Given the description of an element on the screen output the (x, y) to click on. 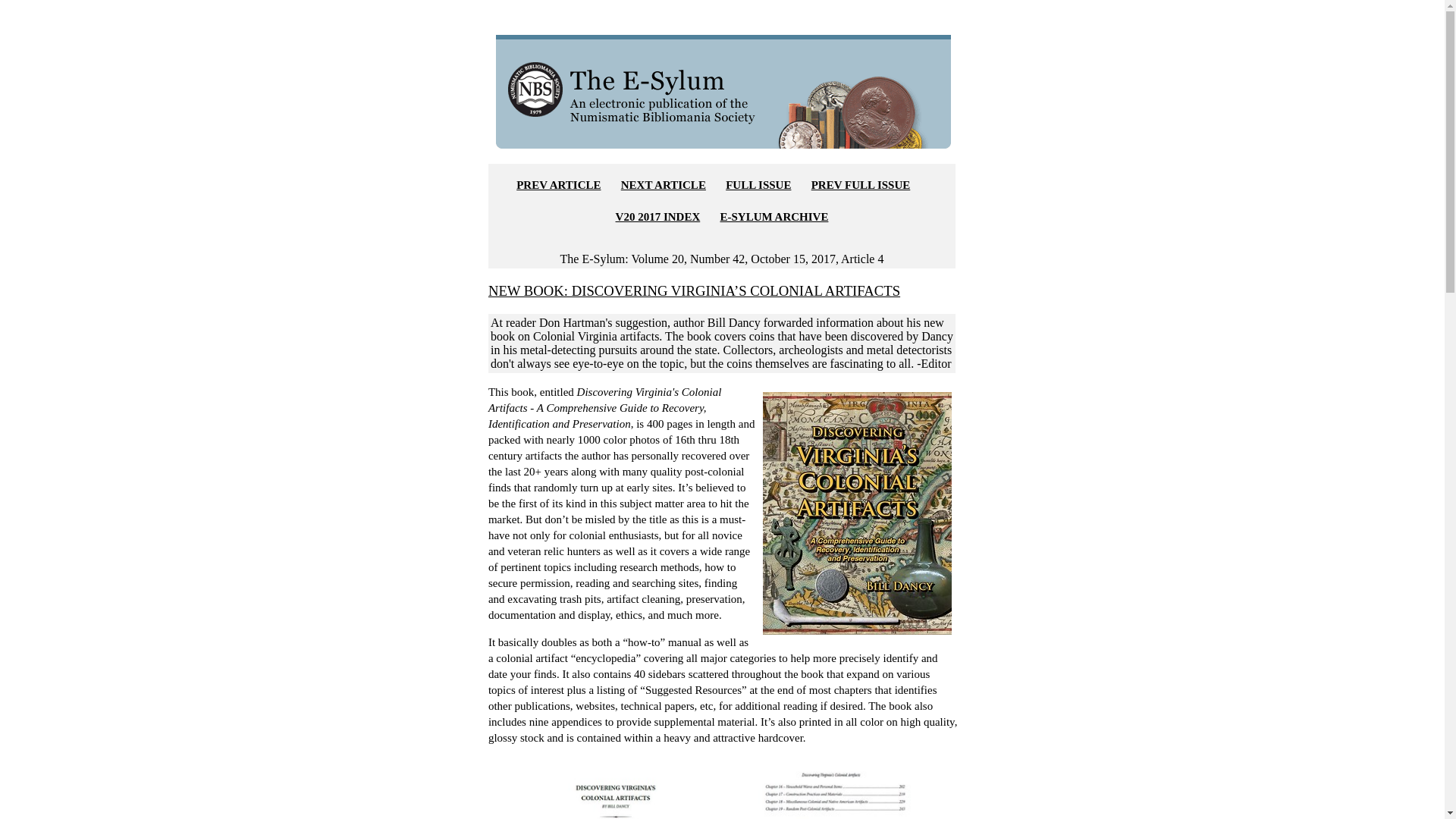
NEXT ARTICLE (663, 184)
PREV ARTICLE (557, 184)
PREV FULL ISSUE (860, 184)
E-SYLUM ARCHIVE (773, 216)
FULL ISSUE (757, 184)
V20 2017 INDEX (657, 216)
